Given the description of an element on the screen output the (x, y) to click on. 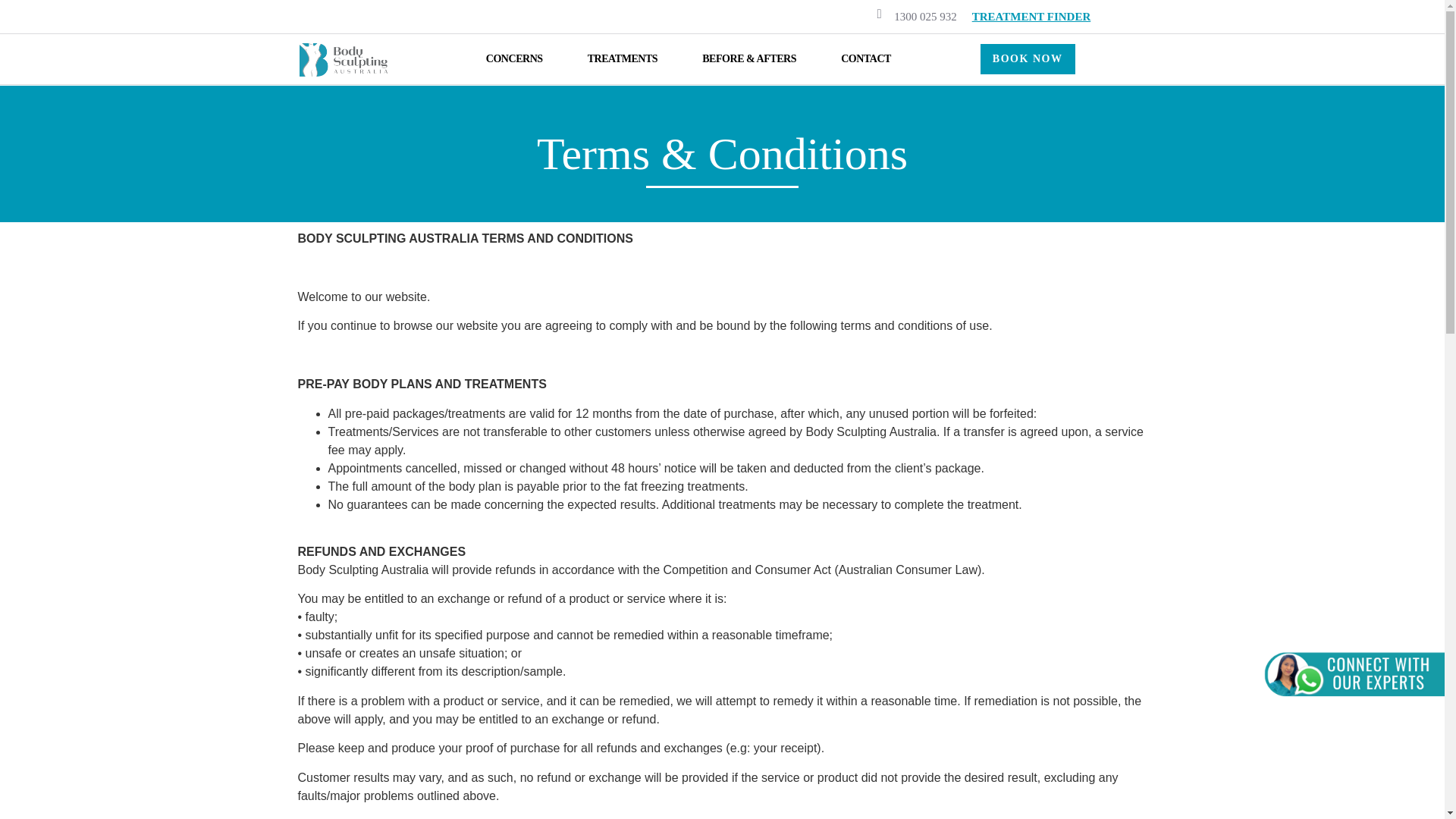
CONTACT (865, 58)
TREATMENT FINDER (1031, 16)
1300 025 932 (924, 16)
BOOK NOW (1027, 59)
CONCERNS (514, 58)
TREATMENTS (622, 58)
